Given the description of an element on the screen output the (x, y) to click on. 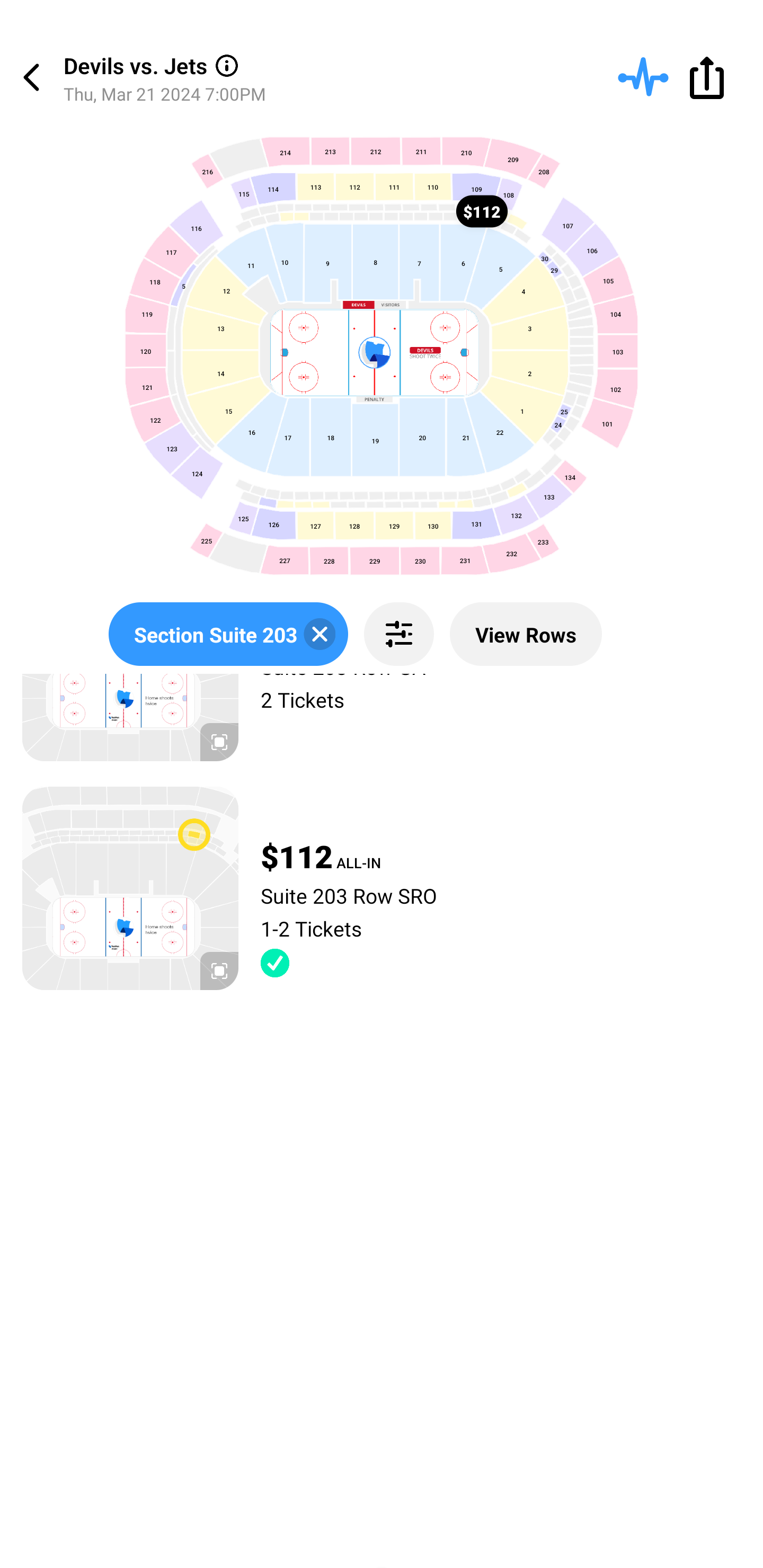
Section Suite 203 (227, 634)
View Rows (526, 634)
